Given the description of an element on the screen output the (x, y) to click on. 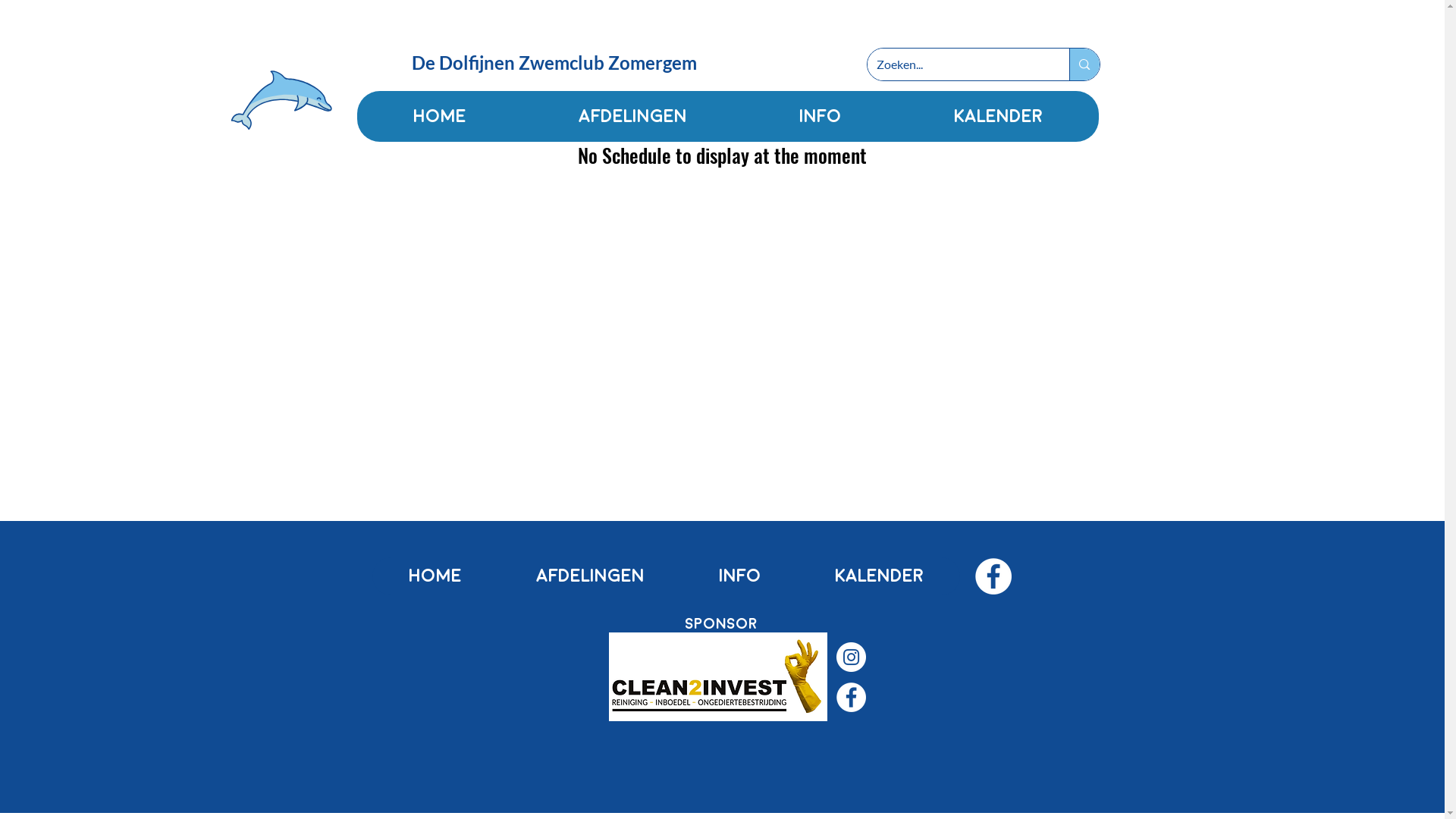
AFDELINGEN Element type: text (589, 576)
INFO Element type: text (738, 576)
HOME Element type: text (438, 116)
KALENDER Element type: text (997, 116)
De Dolfijnen Zwemclub Zomergem Element type: text (553, 62)
AFDELINGEN Element type: text (631, 116)
HOME Element type: text (434, 576)
INFO Element type: text (820, 116)
KALENDER Element type: text (878, 576)
